Given the description of an element on the screen output the (x, y) to click on. 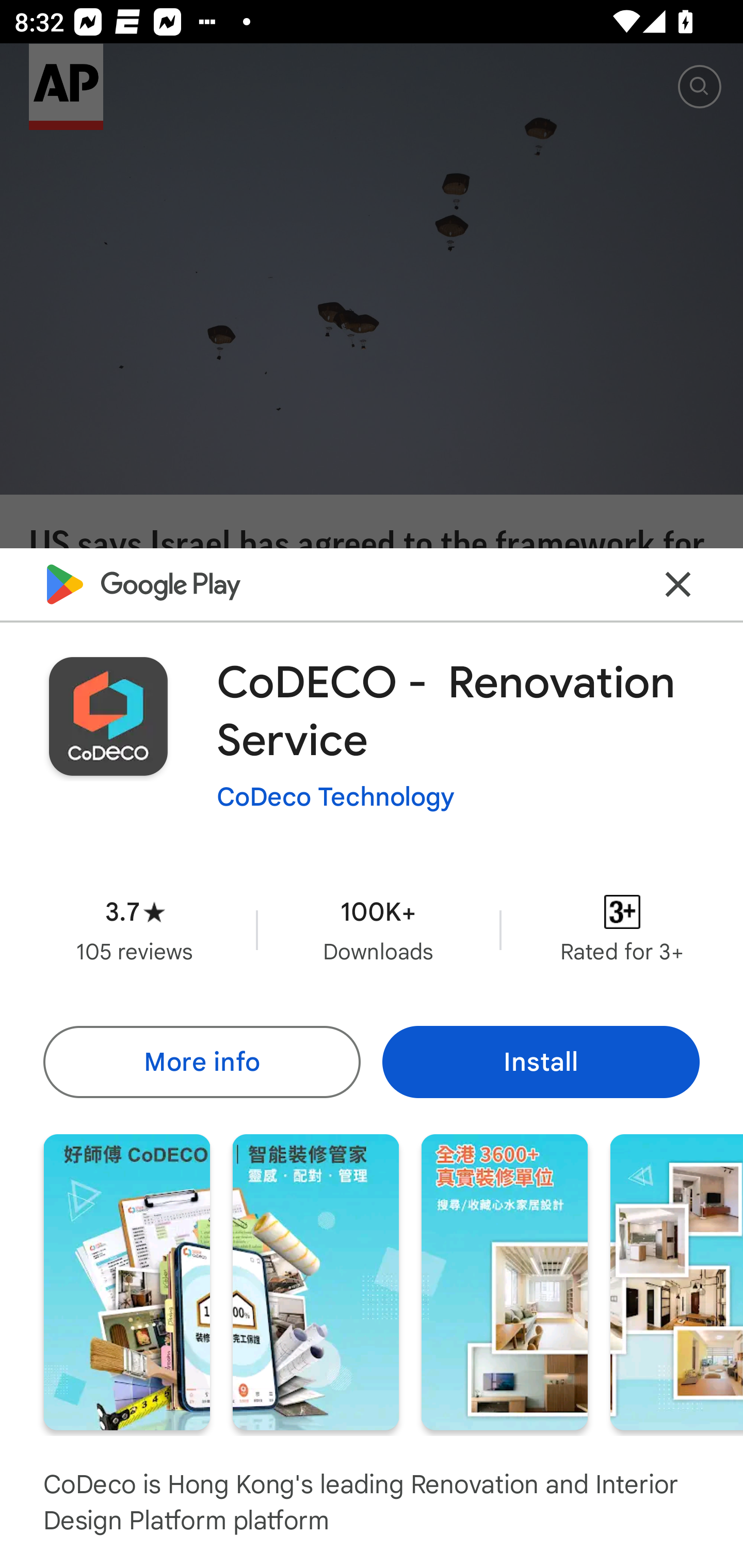
Close (677, 584)
CoDeco Technology (335, 796)
More info (201, 1061)
Install (540, 1061)
Screenshot "1" of "8" (126, 1281)
Screenshot "2" of "8" (315, 1281)
Screenshot "3" of "8" (504, 1281)
Screenshot "4" of "8" (676, 1281)
